Given the description of an element on the screen output the (x, y) to click on. 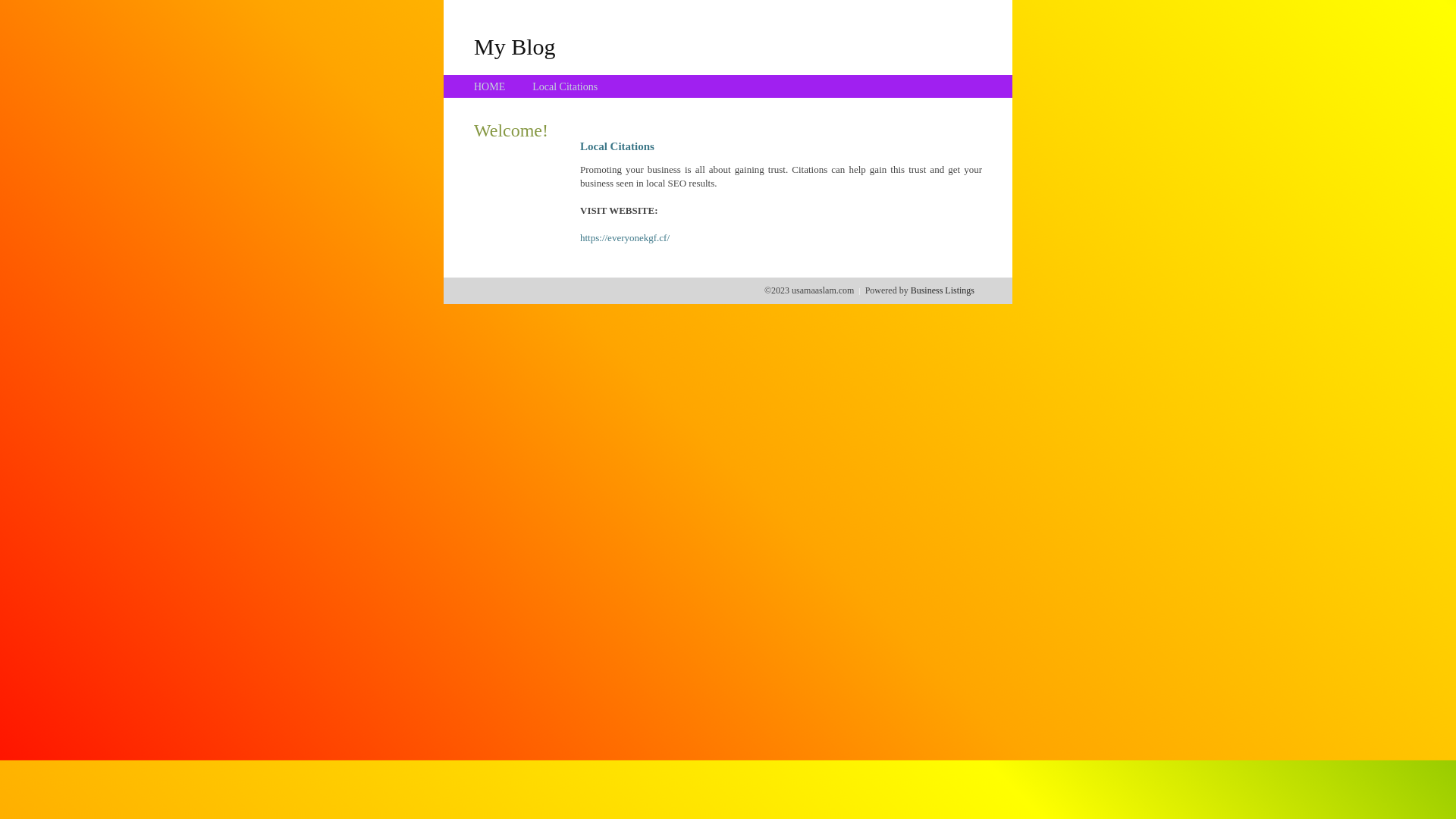
https://everyonekgf.cf/ Element type: text (624, 237)
HOME Element type: text (489, 86)
Local Citations Element type: text (564, 86)
My Blog Element type: text (514, 46)
Business Listings Element type: text (942, 290)
